Given the description of an element on the screen output the (x, y) to click on. 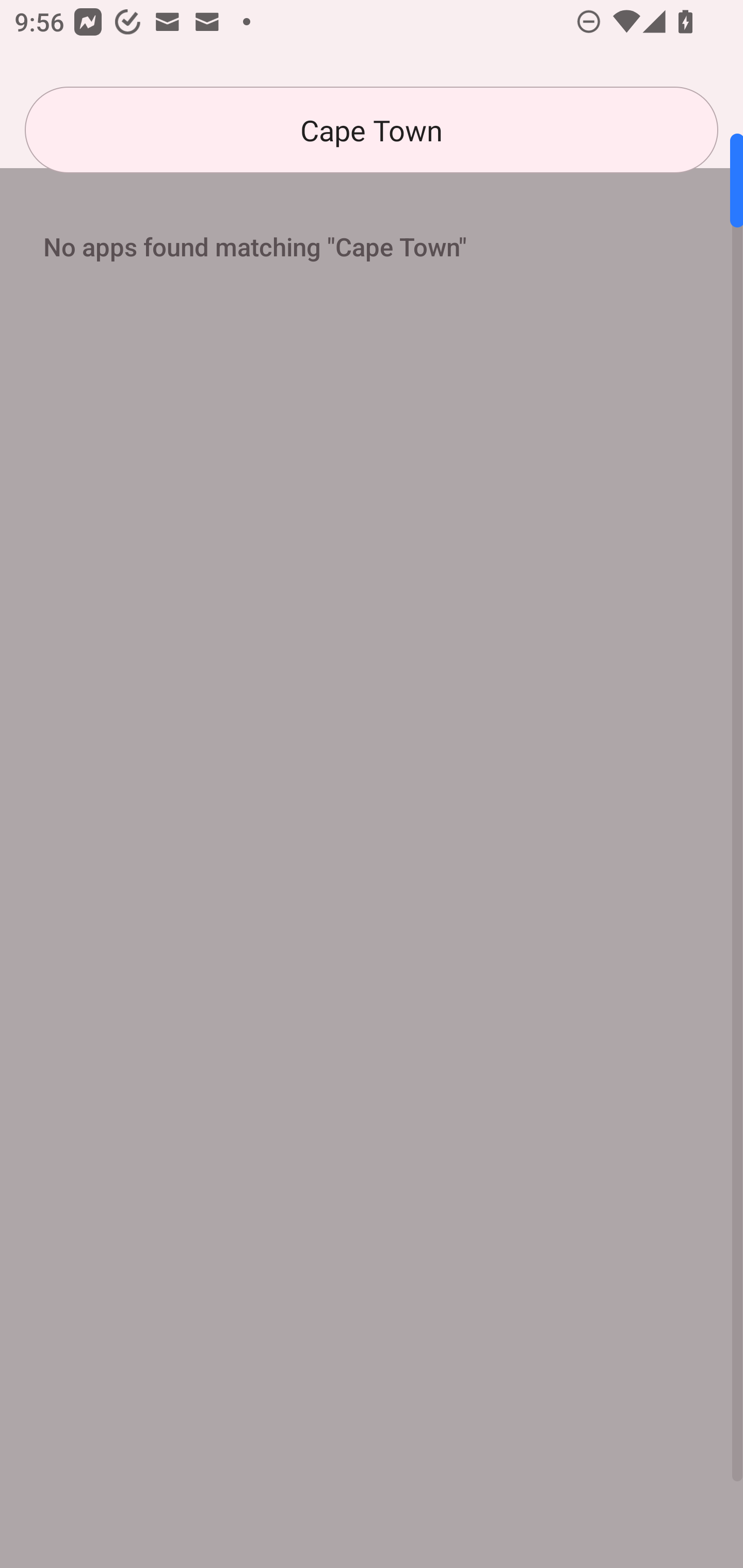
Cape Town (371, 130)
